Given the description of an element on the screen output the (x, y) to click on. 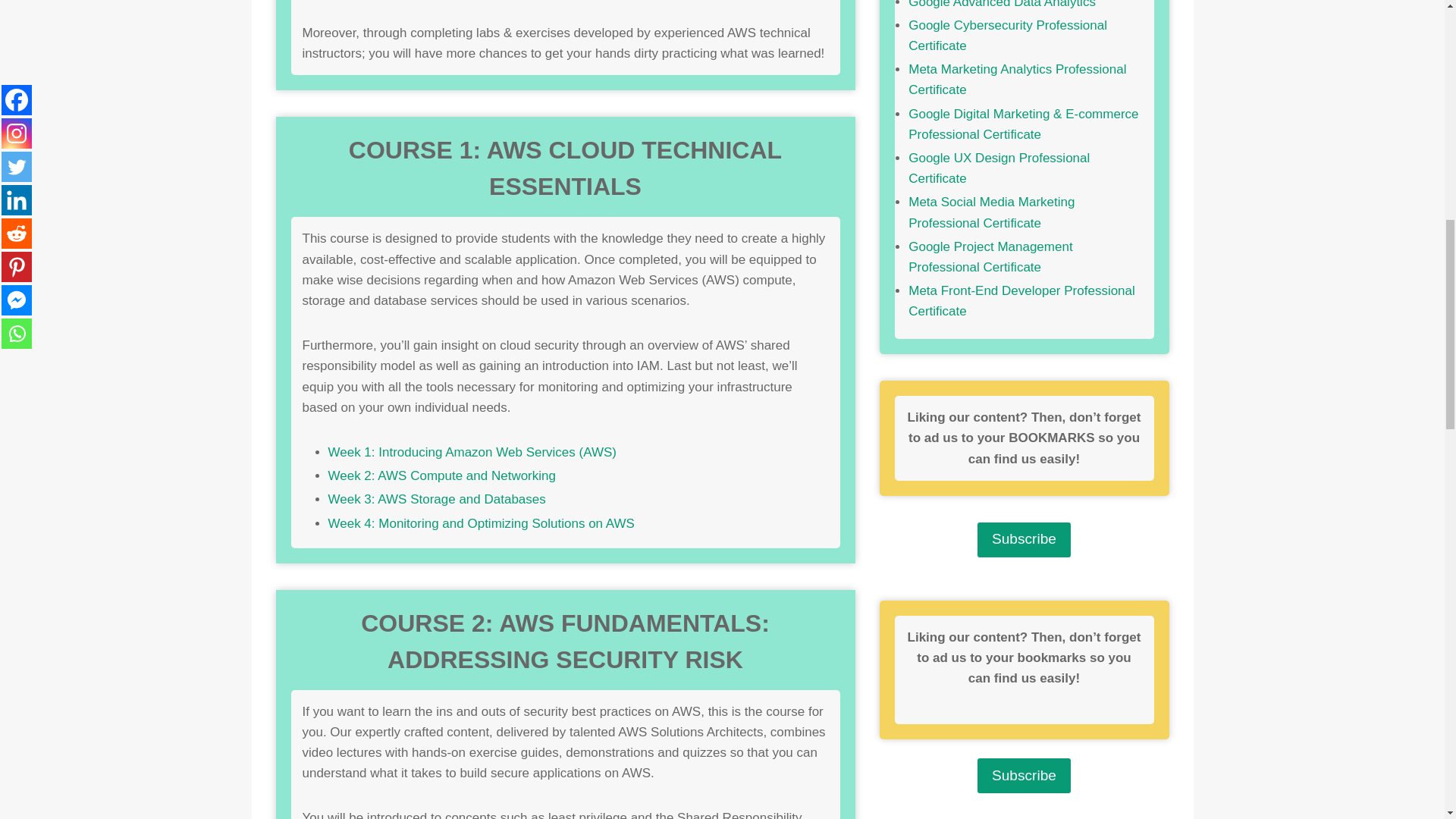
Meta Marketing Analytics Professional Certificate (1016, 79)
Google Advanced Data Analytics (1002, 4)
Google Cybersecurity Professional Certificate (1007, 35)
Meta Social Media Marketing Professional Certificate (991, 212)
Google UX Design Professional Certificate (998, 167)
Week 2: AWS Compute and Networking (440, 475)
Week 3: AWS Storage and Databases (435, 499)
Week 4: Monitoring and Optimizing Solutions on AWS (480, 522)
